Given the description of an element on the screen output the (x, y) to click on. 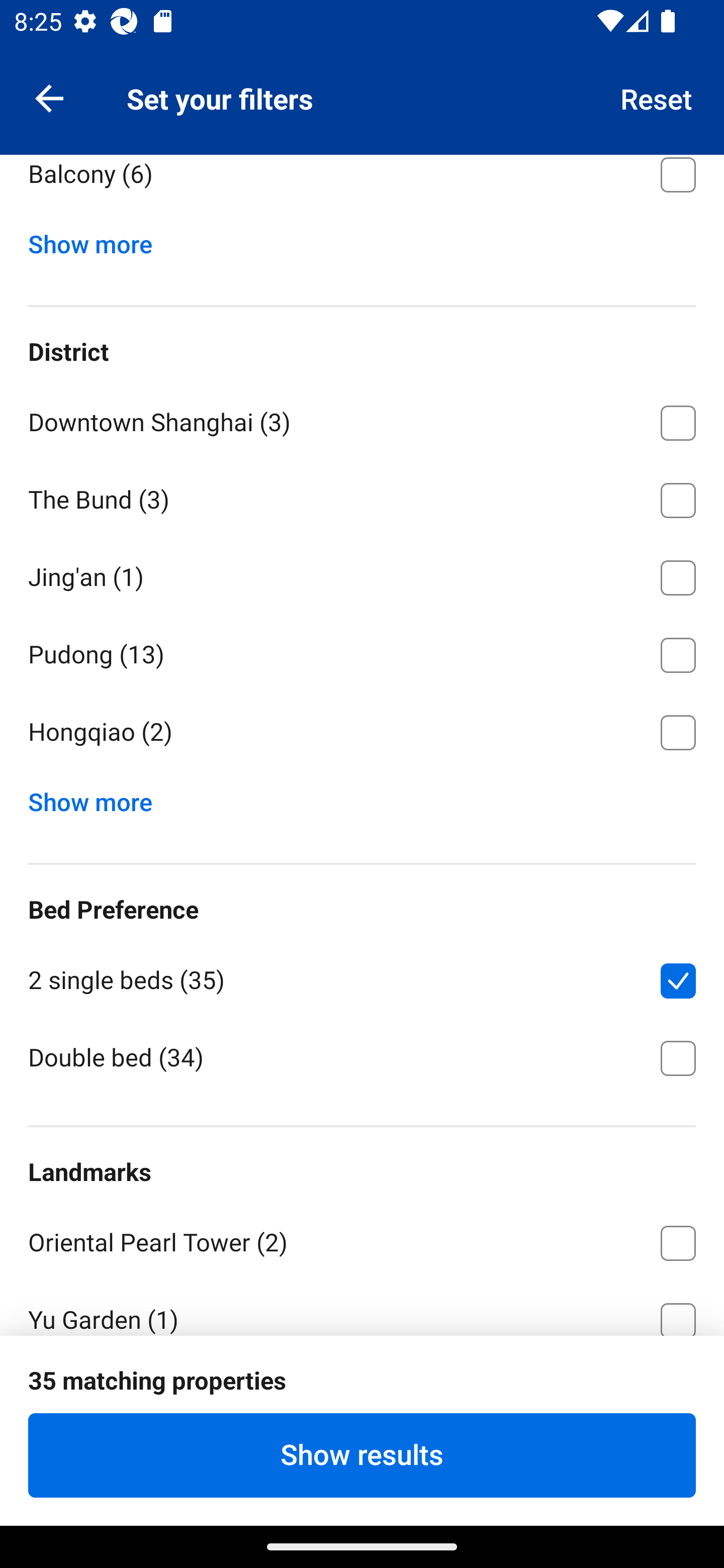
Navigate up (49, 97)
Private bathroom ⁦(27) (361, 93)
Reset (656, 97)
Balcony ⁦(6) (361, 185)
Show more (97, 239)
Downtown Shanghai ⁦(3) (361, 419)
The Bund ⁦(3) (361, 496)
Jing'an ⁦(1) (361, 574)
Pudong ⁦(13) (361, 651)
Hongqiao ⁦(2) (361, 731)
Show more (97, 797)
2 single beds ⁦(35) (361, 977)
Double bed ⁦(34) (361, 1056)
Oriental Pearl Tower ⁦(2) (361, 1239)
Yu Garden ⁦(1) (361, 1306)
Shanghai Museum ⁦(1) (361, 1396)
Show results (361, 1454)
